Given the description of an element on the screen output the (x, y) to click on. 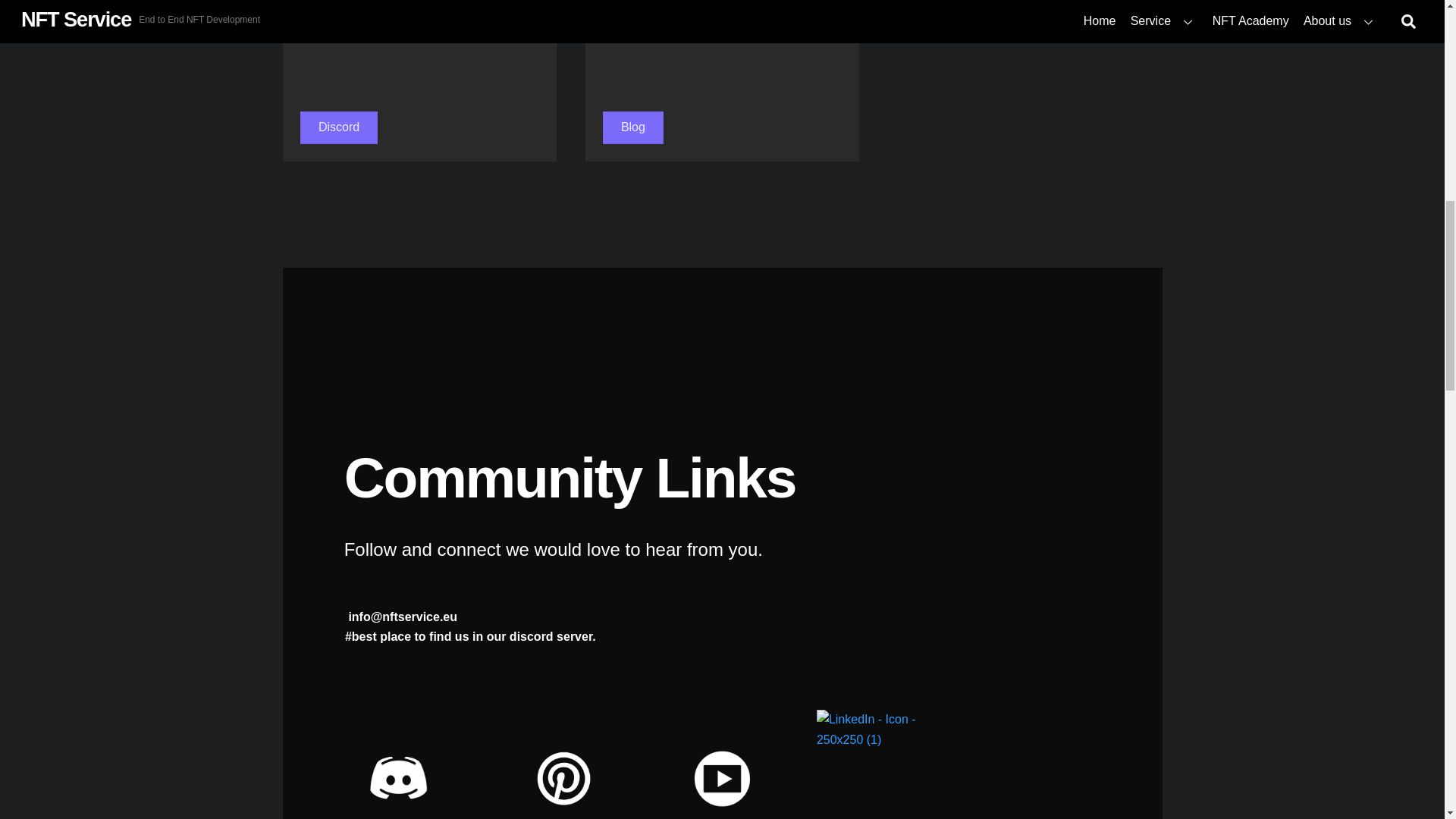
Discord - Icon - 250x250 (398, 762)
Blog (632, 127)
Pinterest - Icon - 250x250 (561, 765)
Discord (338, 127)
